Given the description of an element on the screen output the (x, y) to click on. 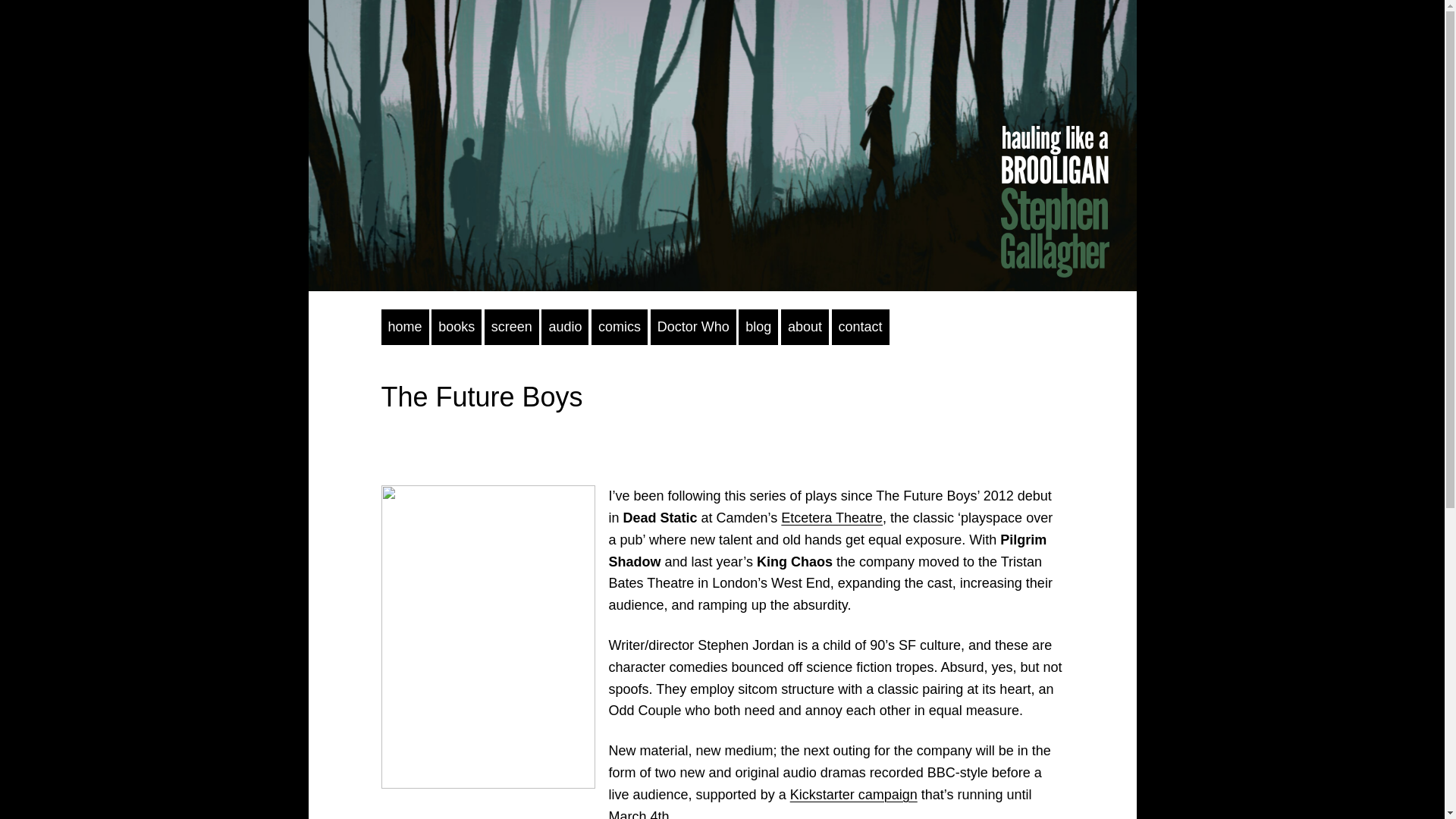
Etcetera Theatre (831, 517)
home (404, 326)
Doctor Who (693, 326)
contact (860, 326)
blog (757, 326)
books (455, 326)
comics (619, 326)
about (804, 326)
audio (564, 326)
screen (511, 326)
